Given the description of an element on the screen output the (x, y) to click on. 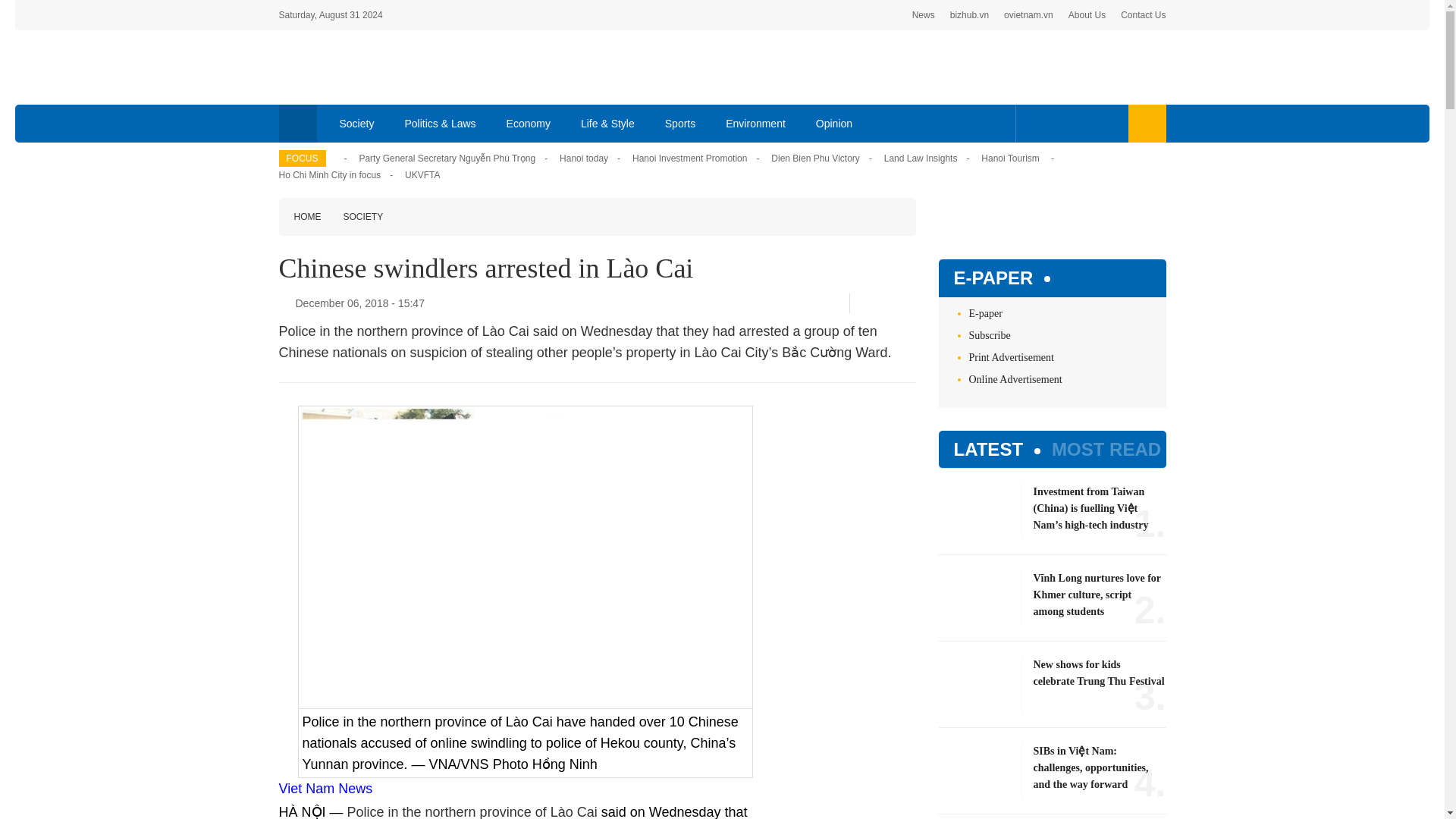
News (923, 15)
bizhub.vn (969, 15)
About Us (1086, 15)
Instagram (1106, 123)
Facebook (1035, 123)
Economy (529, 123)
Twitter (1056, 122)
Viet Nam News (325, 788)
Environment (755, 123)
ovietnam.vn (1028, 15)
